Given the description of an element on the screen output the (x, y) to click on. 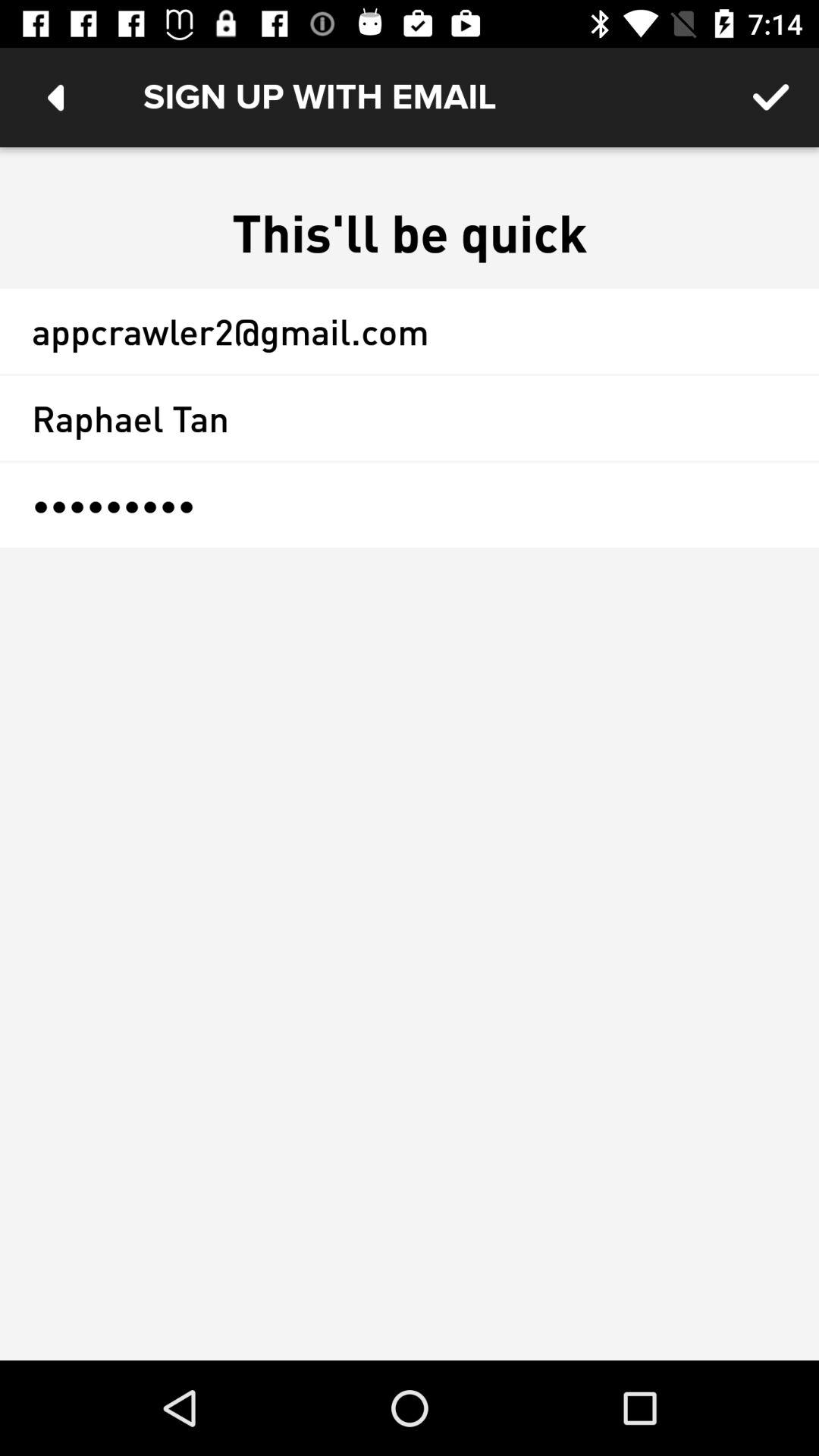
turn off icon at the center (409, 504)
